Given the description of an element on the screen output the (x, y) to click on. 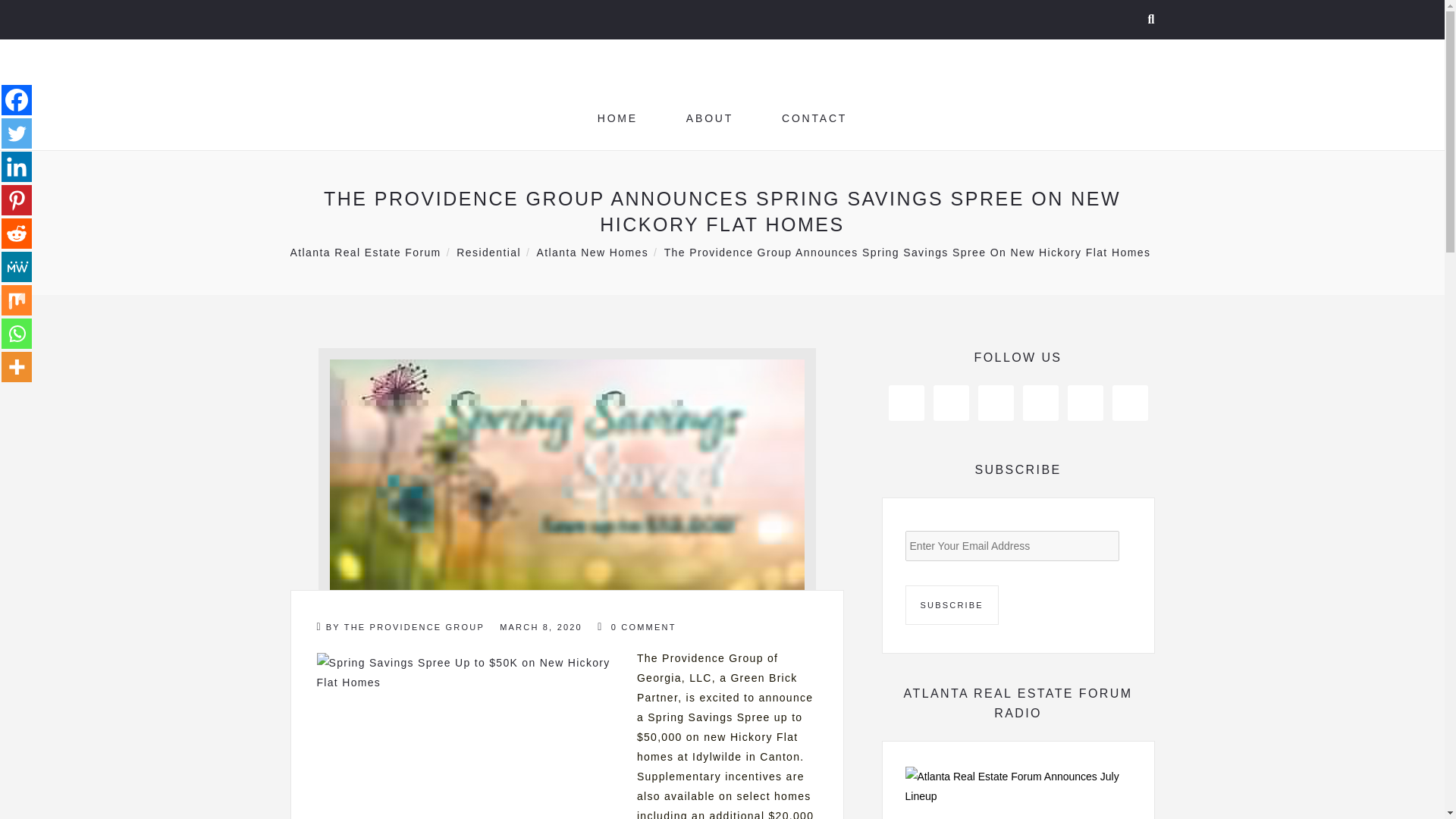
Home (616, 118)
HOME (616, 118)
Residential (489, 251)
Reddit (16, 233)
About (709, 118)
Atlanta New Homes (593, 251)
CONTACT (814, 118)
ABOUT (709, 118)
Go to Atlanta Real Estate Forum. (365, 251)
Pinterest (16, 200)
